Given the description of an element on the screen output the (x, y) to click on. 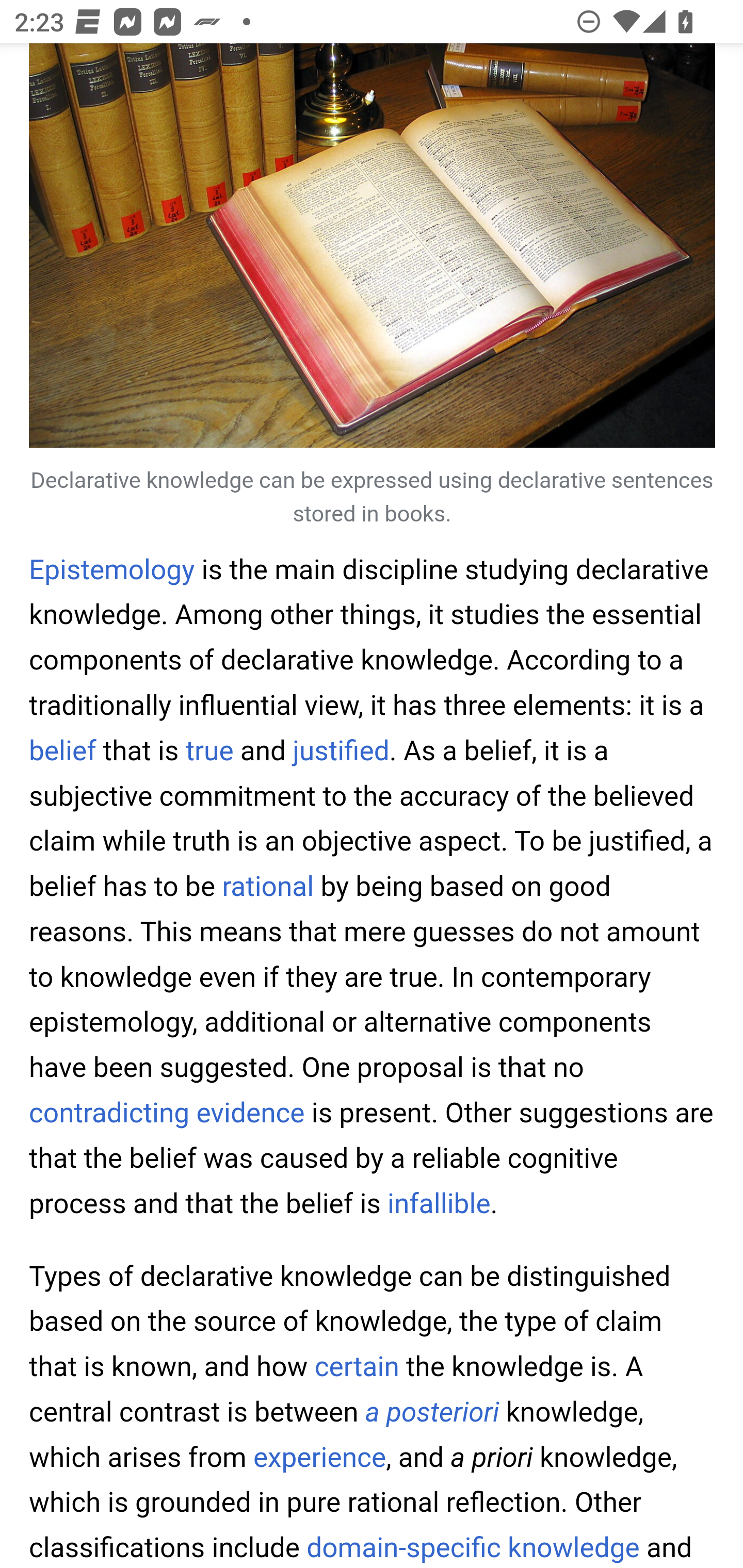
Epistemology (112, 568)
belief (62, 749)
true (209, 749)
justified (341, 749)
rational (267, 887)
contradicting evidence (166, 1113)
infallible (438, 1202)
certain (357, 1367)
a posteriori (432, 1412)
experience (319, 1456)
domain-specific knowledge (472, 1547)
